Given the description of an element on the screen output the (x, y) to click on. 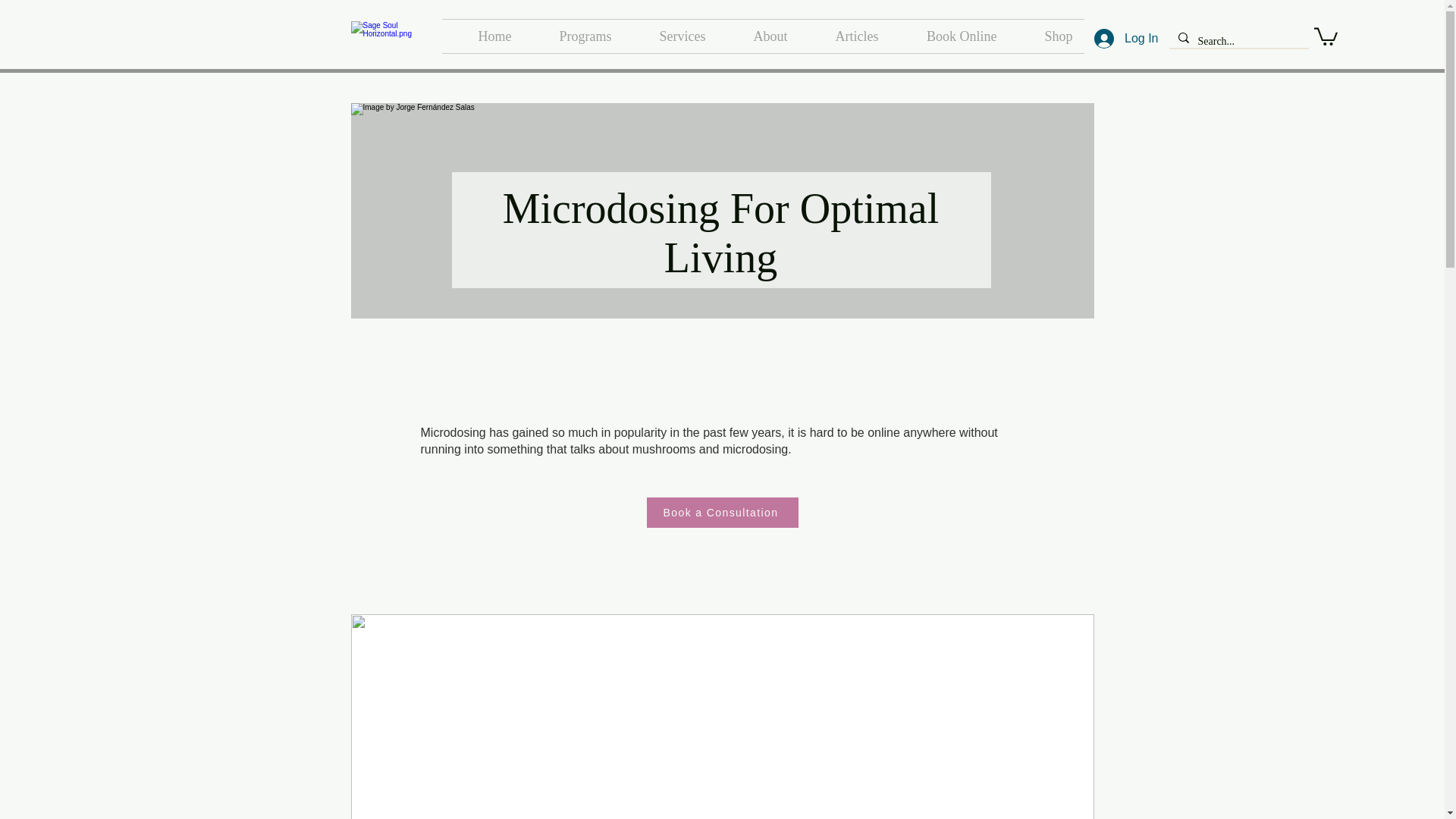
Shop (1046, 36)
Book Online (949, 36)
Programs (572, 36)
Log In (1126, 38)
Home (481, 36)
Services (670, 36)
About (758, 36)
Articles (844, 36)
Book a Consultation (721, 512)
